Given the description of an element on the screen output the (x, y) to click on. 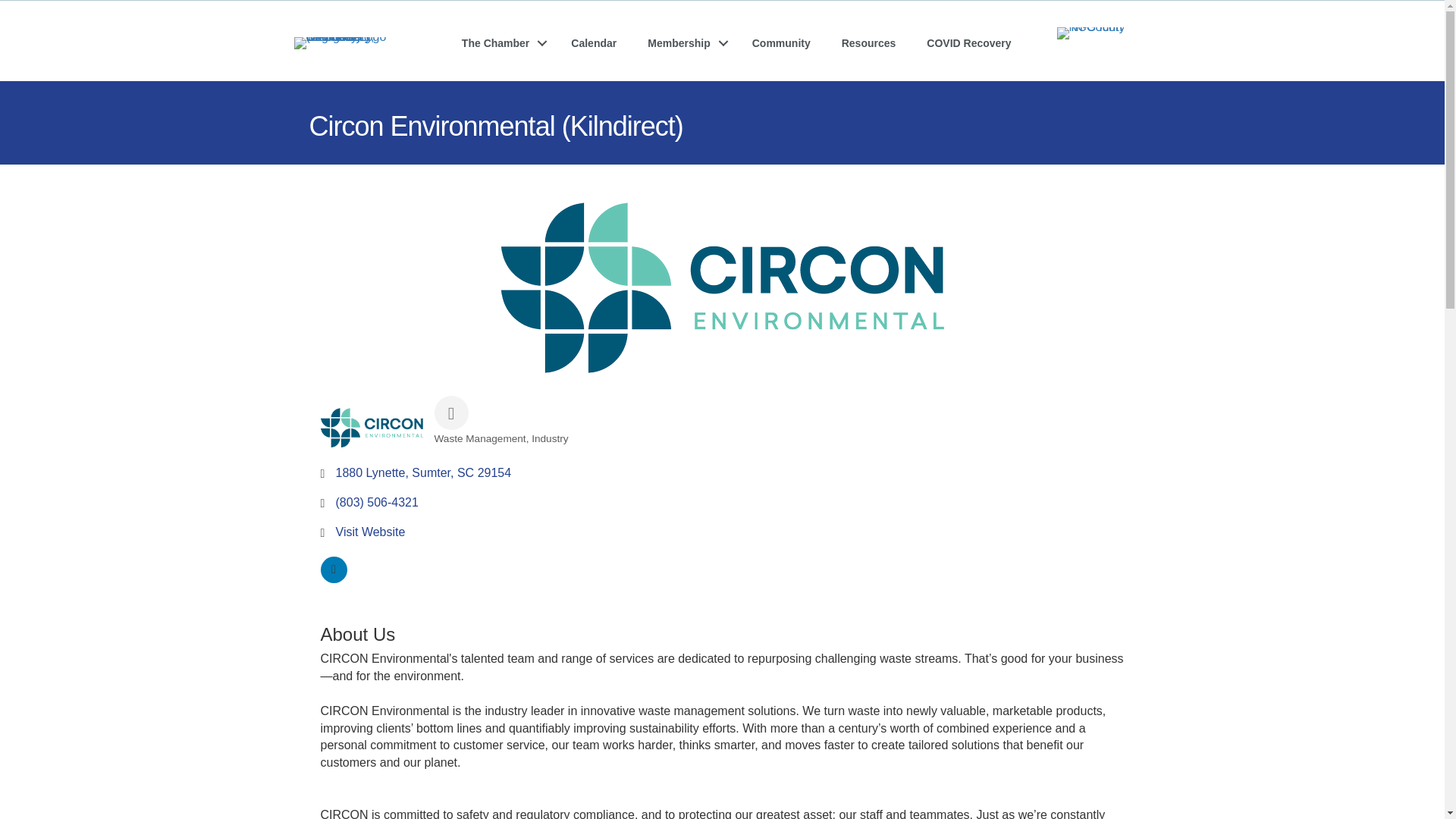
Membership (683, 43)
tri-county-regional-chamber-logo (346, 42)
Tri-County NCG Icon (1104, 33)
Community (780, 43)
Calendar (593, 43)
Resources (869, 43)
COVID Recovery (968, 43)
Visit Website (369, 531)
1880 Lynette Sumter SC 29154 (422, 472)
The Chamber (500, 43)
